Given the description of an element on the screen output the (x, y) to click on. 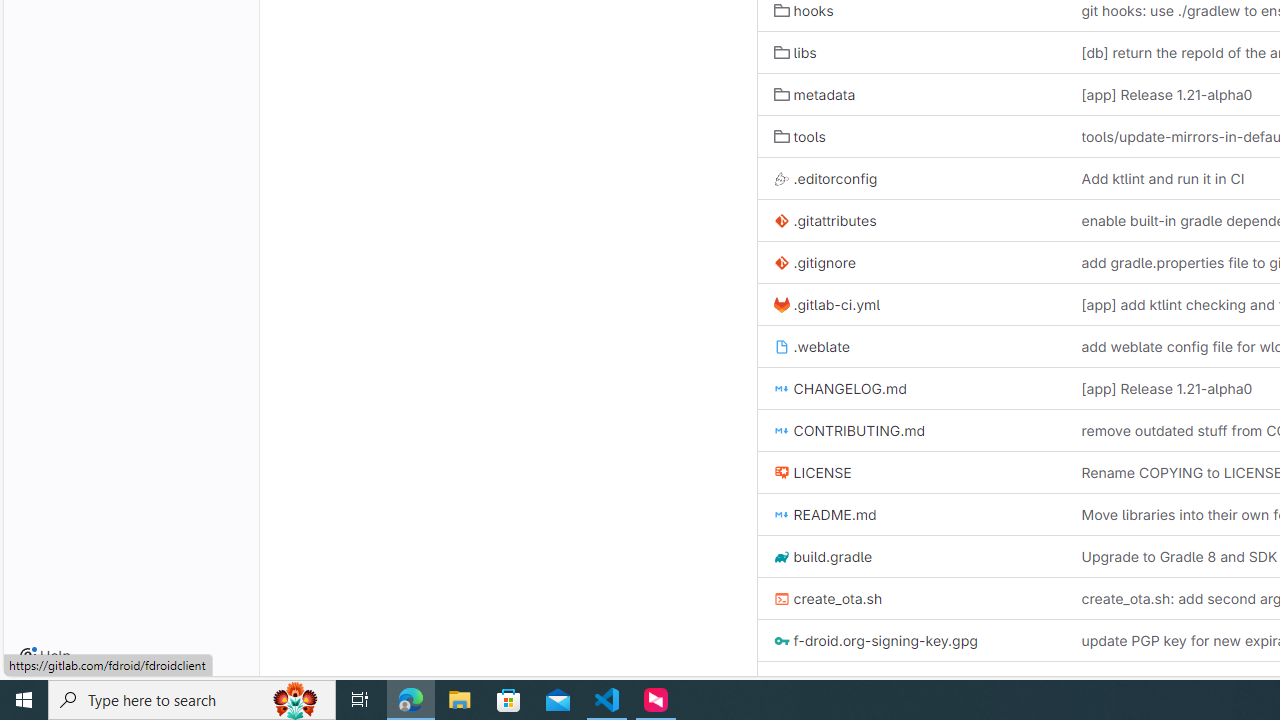
CHANGELOG.md (911, 388)
.gitignore (911, 262)
CONTRIBUTING.md (849, 430)
.editorconfig (911, 178)
.weblate (911, 345)
.gitlab-ci.yml (911, 304)
